Given the description of an element on the screen output the (x, y) to click on. 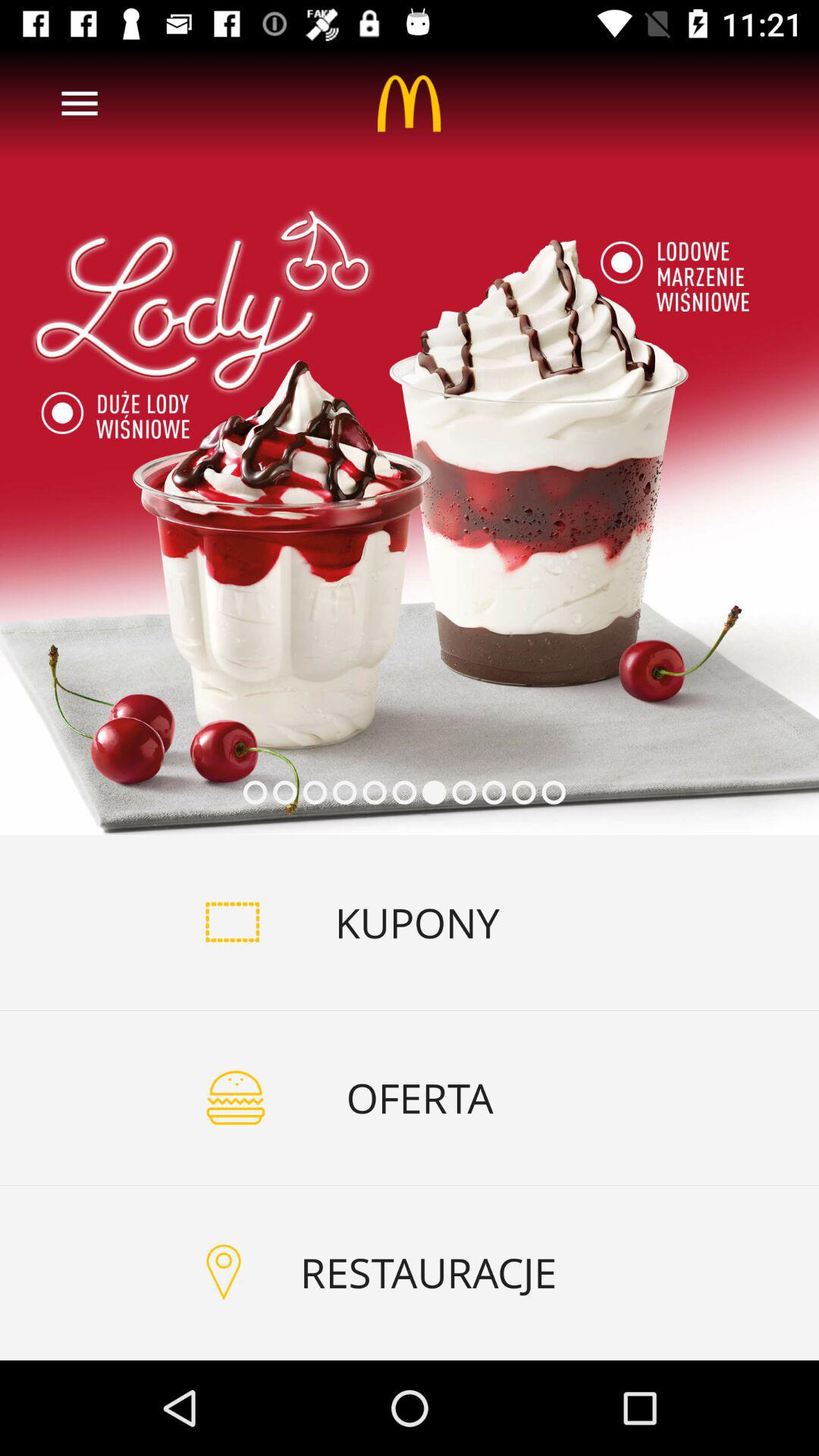
select favorite desert (409, 440)
